Given the description of an element on the screen output the (x, y) to click on. 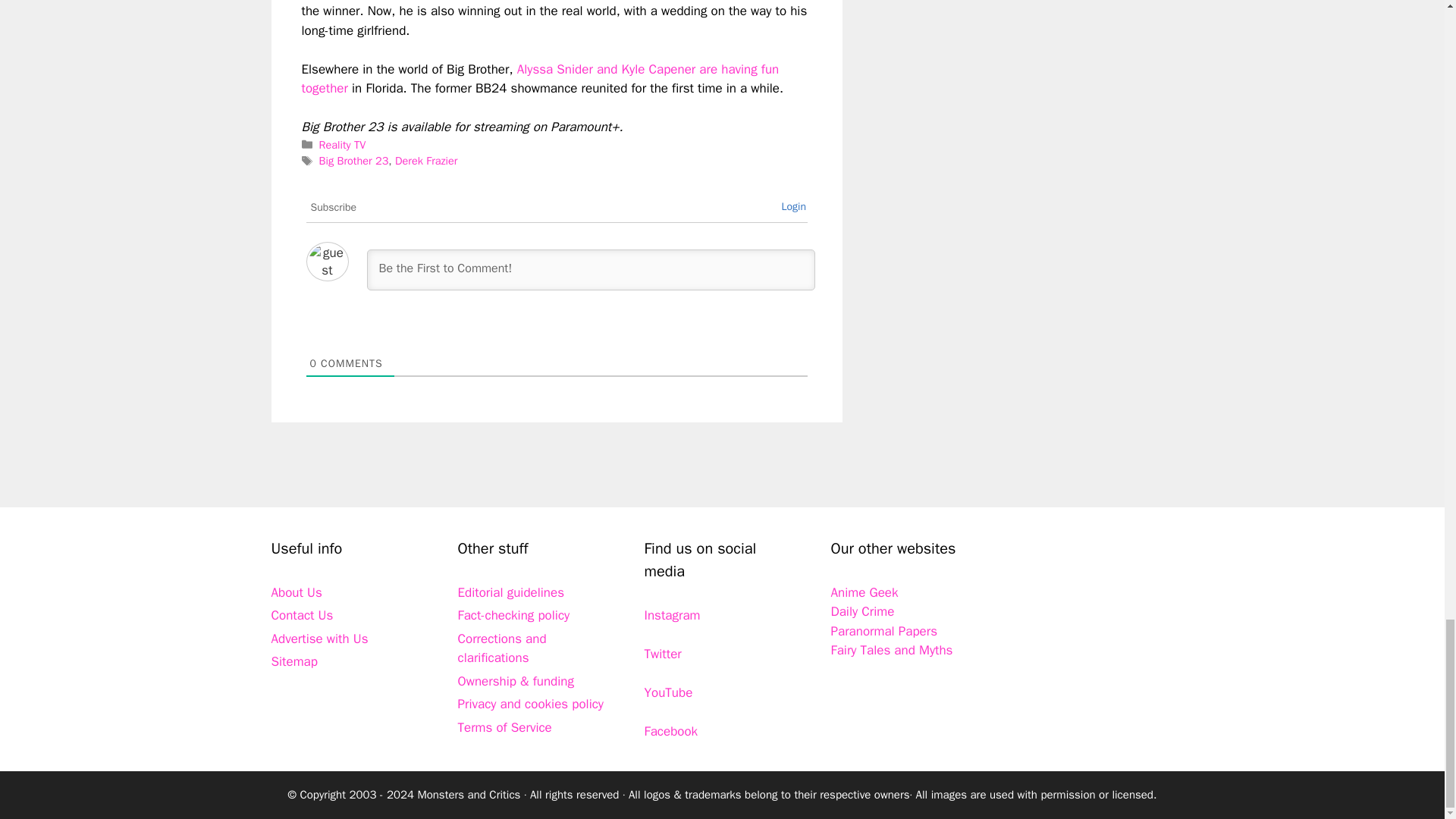
Editorial guidelines (511, 592)
Big Brother 23 (353, 160)
About Us (295, 592)
Login (793, 205)
Contact Us (301, 615)
Corrections and clarifications (502, 648)
Reality TV (342, 144)
Fact-checking policy (514, 615)
Derek Frazier (425, 160)
Alyssa Snider and Kyle Capener are having fun together (539, 79)
Privacy and cookies policy (531, 703)
Terms of Service (504, 727)
Advertise with Us (319, 638)
Sitemap (293, 661)
